Given the description of an element on the screen output the (x, y) to click on. 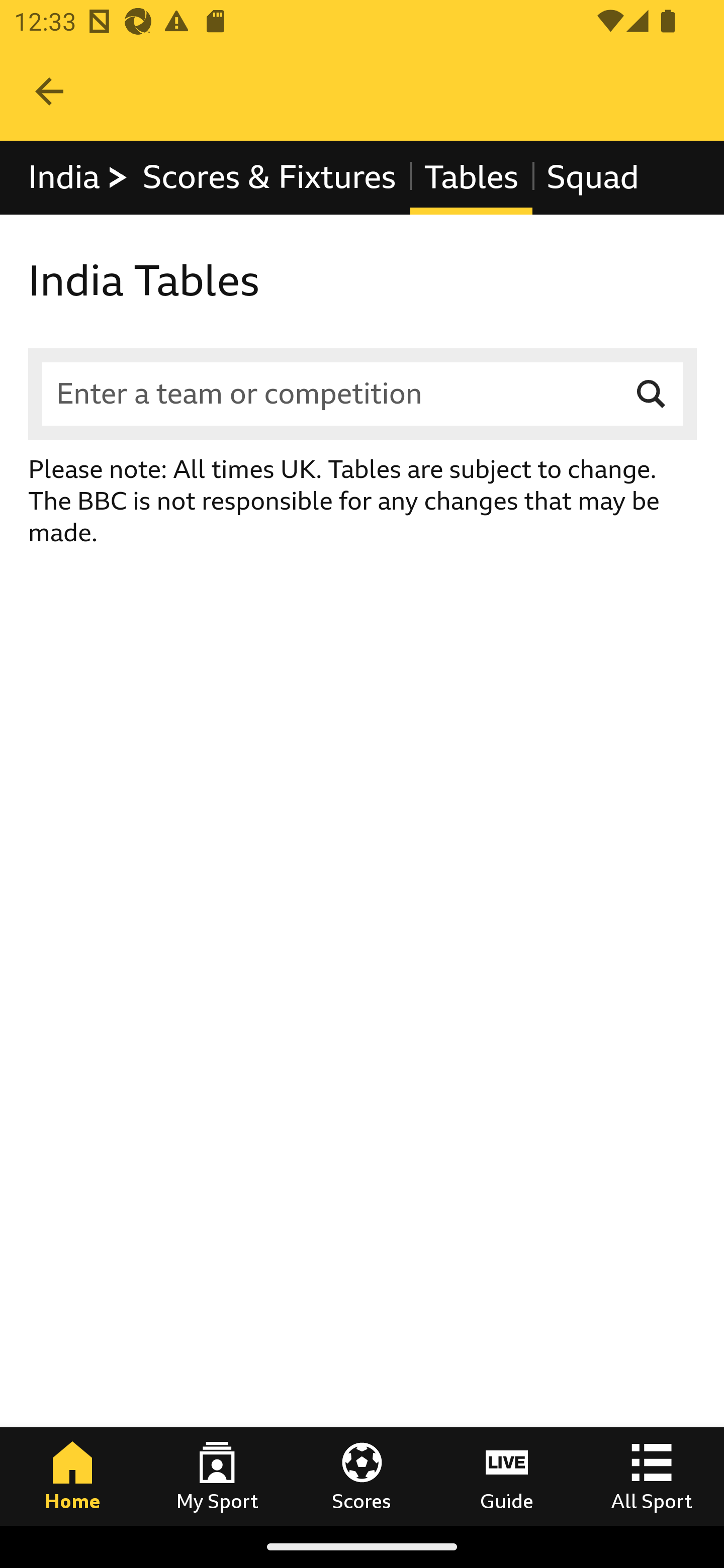
Navigate up (49, 91)
India  (79, 177)
Scores & Fixtures (268, 177)
Tables (470, 177)
Squad (592, 177)
Search (651, 393)
My Sport (216, 1475)
Scores (361, 1475)
Guide (506, 1475)
All Sport (651, 1475)
